Given the description of an element on the screen output the (x, y) to click on. 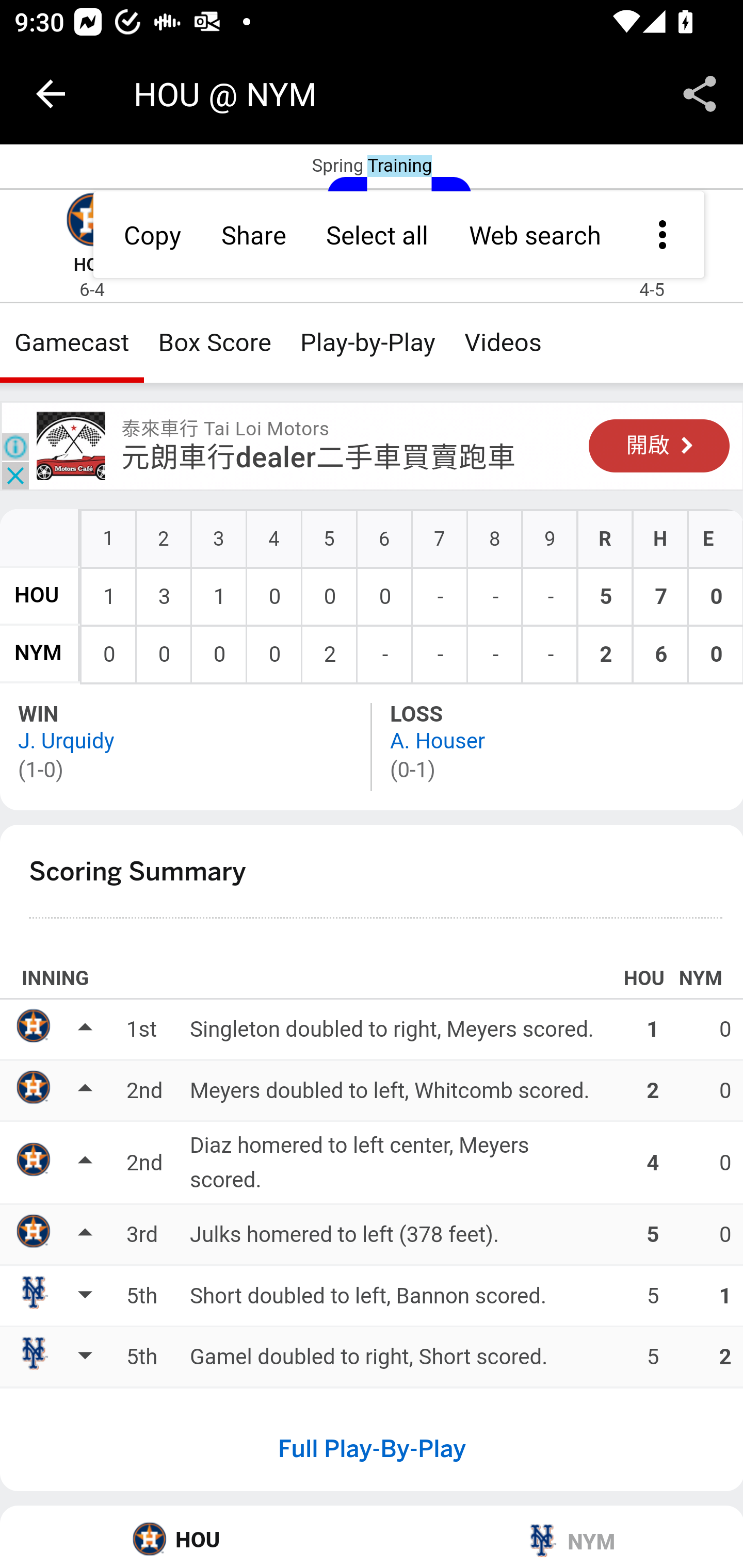
Navigate up (50, 93)
Share (699, 93)
Houston Astros (91, 221)
New York Mets (651, 221)
HOU (92, 264)
NYM (652, 264)
Gamecast (72, 342)
Box Score (214, 342)
Play-by-Play (368, 342)
Videos (502, 342)
泰來車行 Tai Loi Motors (71, 445)
泰來車行 Tai Loi Motors (224, 428)
開啟 (659, 445)
元朗車行dealer二手車買賣跑車 (318, 457)
HOU (36, 595)
NYM (38, 653)
WIN J. Urquidy (1-0) WIN J. Urquidy (1-0) (186, 746)
LOSS A. Houser (0-1) LOSS A. Houser (0-1) (557, 746)
Full Play-By-Play (371, 1448)
HOU (186, 1536)
NYM (557, 1536)
